Given the description of an element on the screen output the (x, y) to click on. 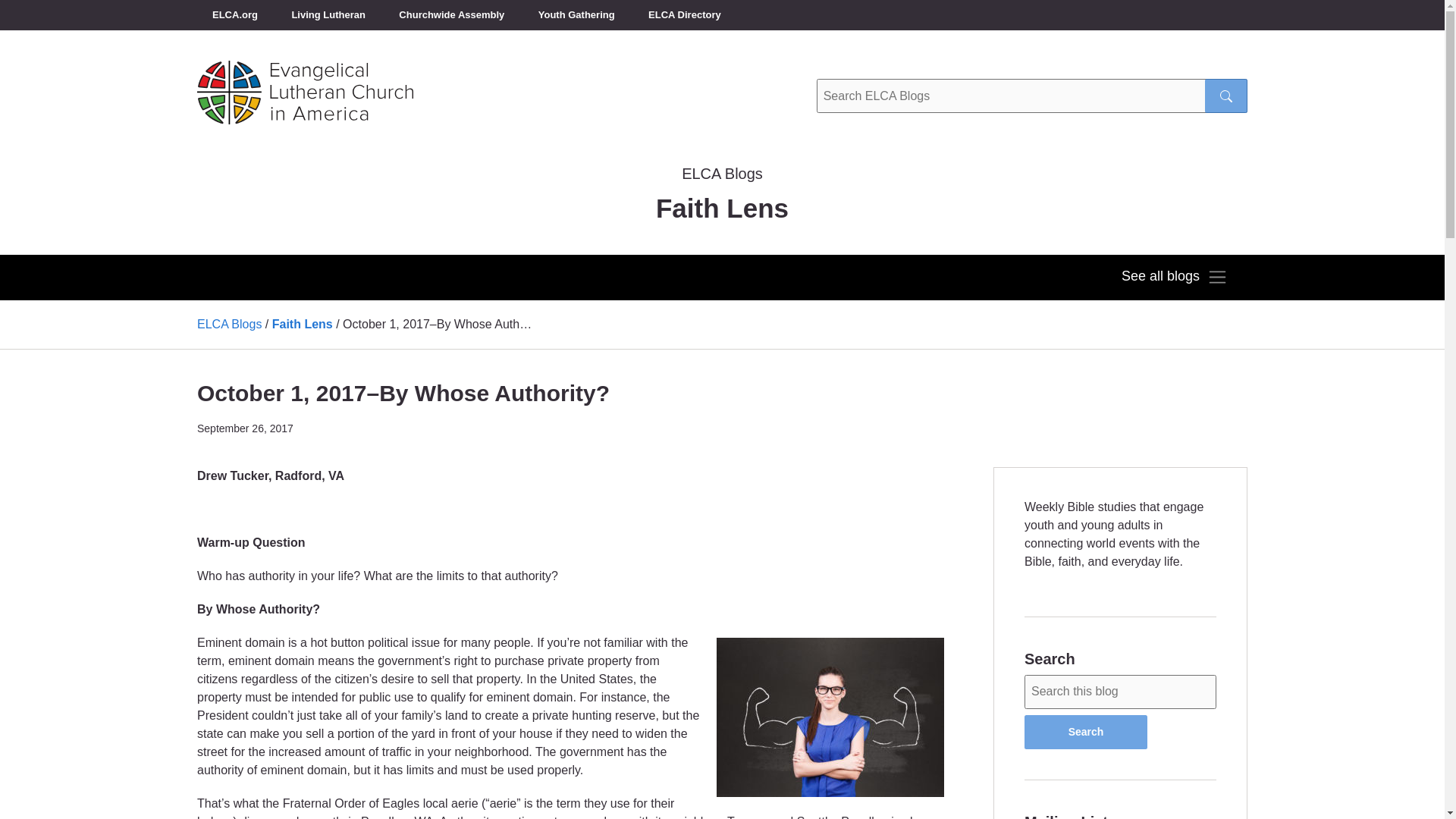
Faith Lens (302, 323)
Search (1086, 731)
Churchwide Assembly (451, 15)
See all blogs (1174, 277)
ELCA Directory (684, 15)
Search submit (1226, 95)
Living Lutheran (328, 15)
Youth Gathering (576, 15)
ELCA Blogs (229, 323)
ELCA.org (234, 15)
